Given the description of an element on the screen output the (x, y) to click on. 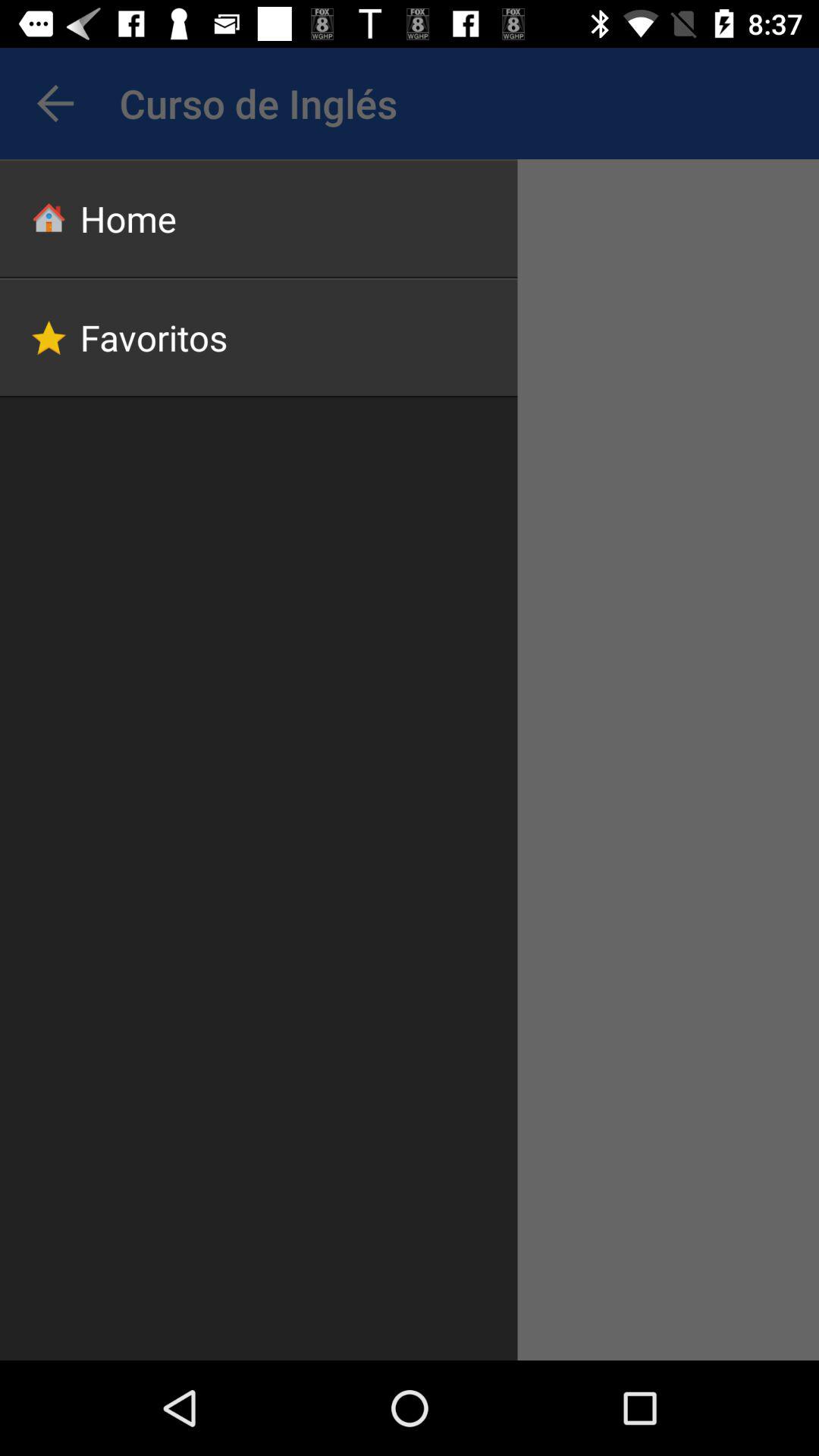
select app below the home item (258, 337)
